Given the description of an element on the screen output the (x, y) to click on. 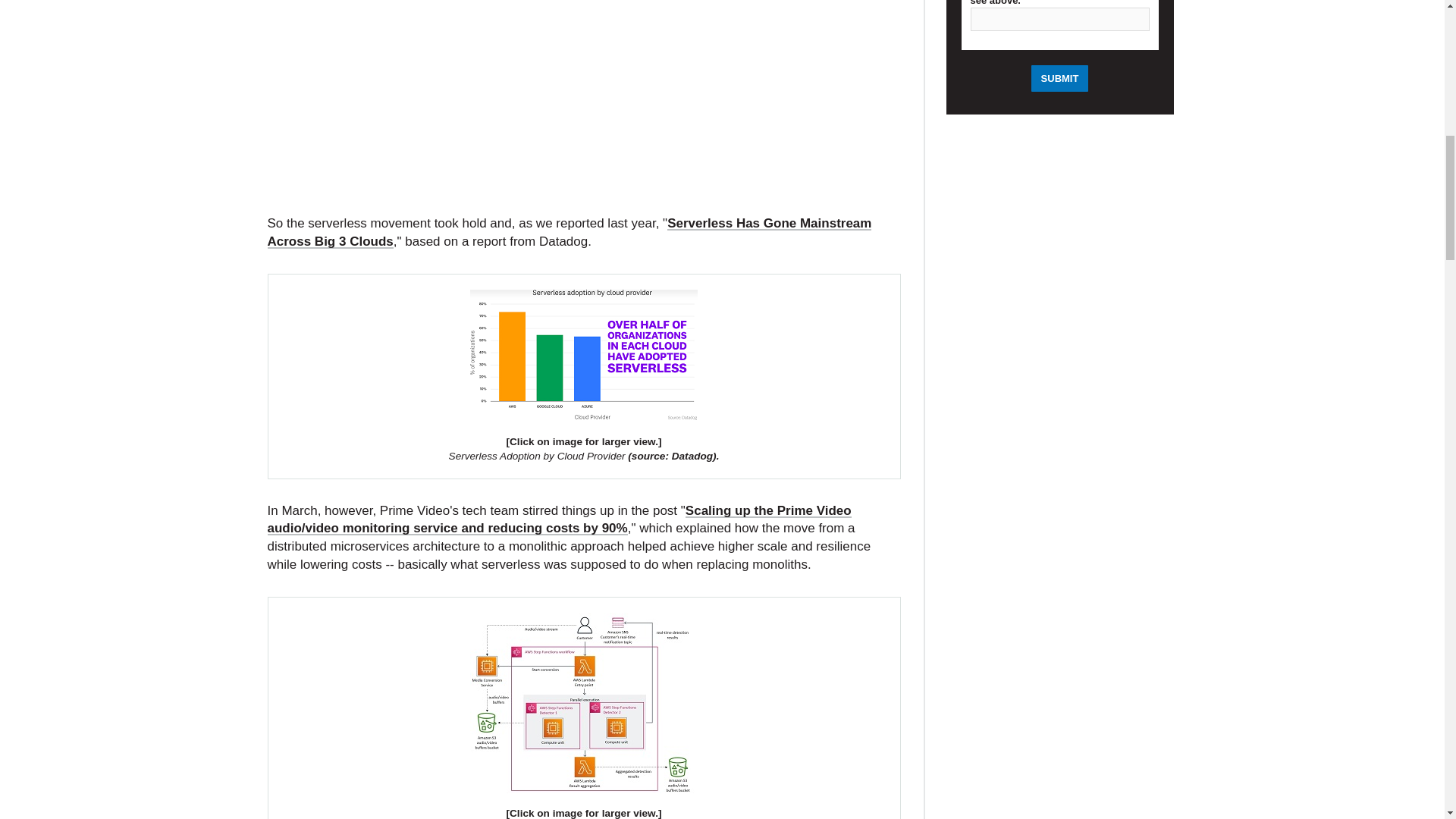
3rd party ad content (1059, 732)
Submit (1059, 78)
3rd party ad content (583, 106)
